Given the description of an element on the screen output the (x, y) to click on. 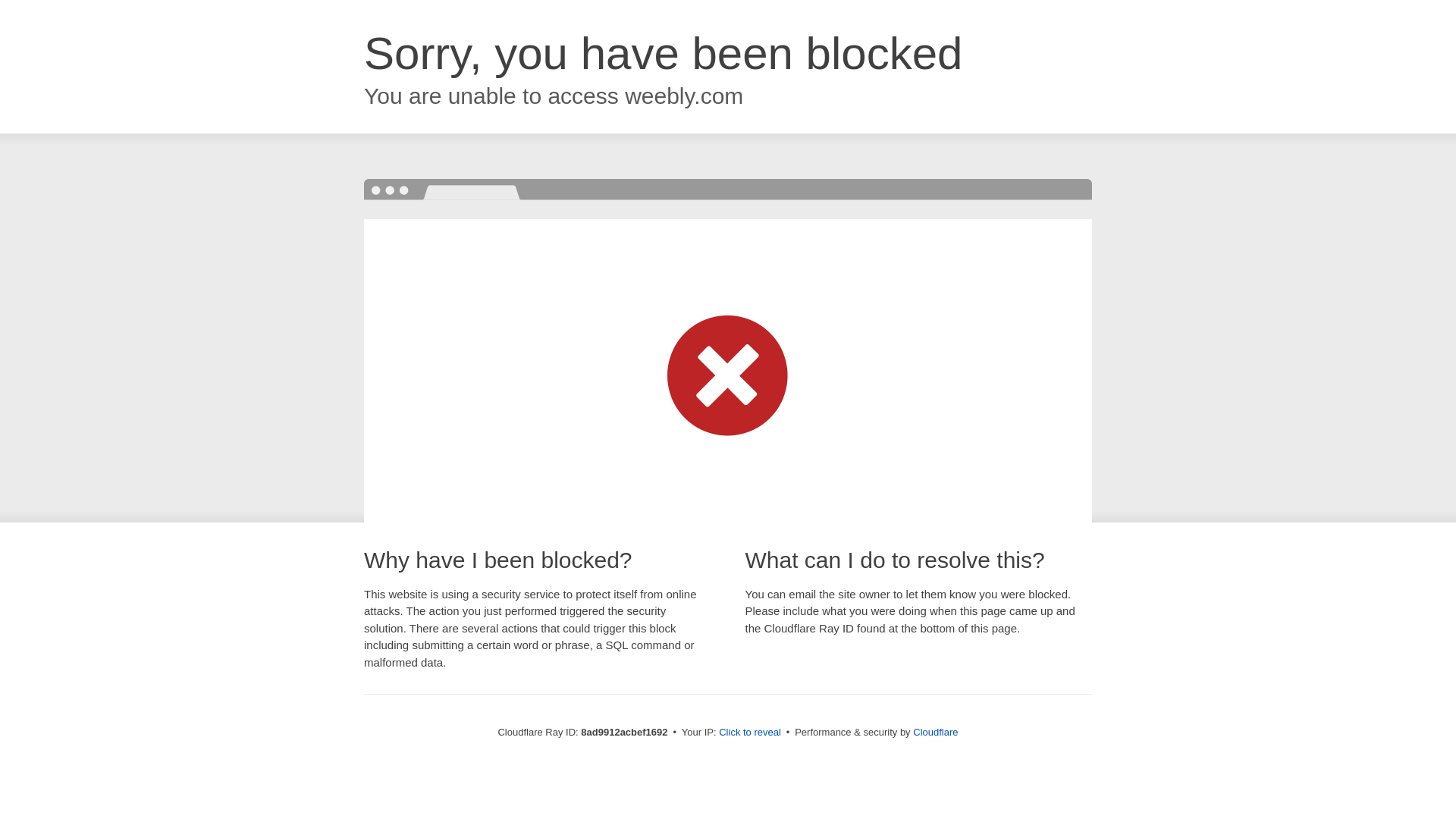
Click to reveal (749, 732)
Cloudflare (935, 731)
